Given the description of an element on the screen output the (x, y) to click on. 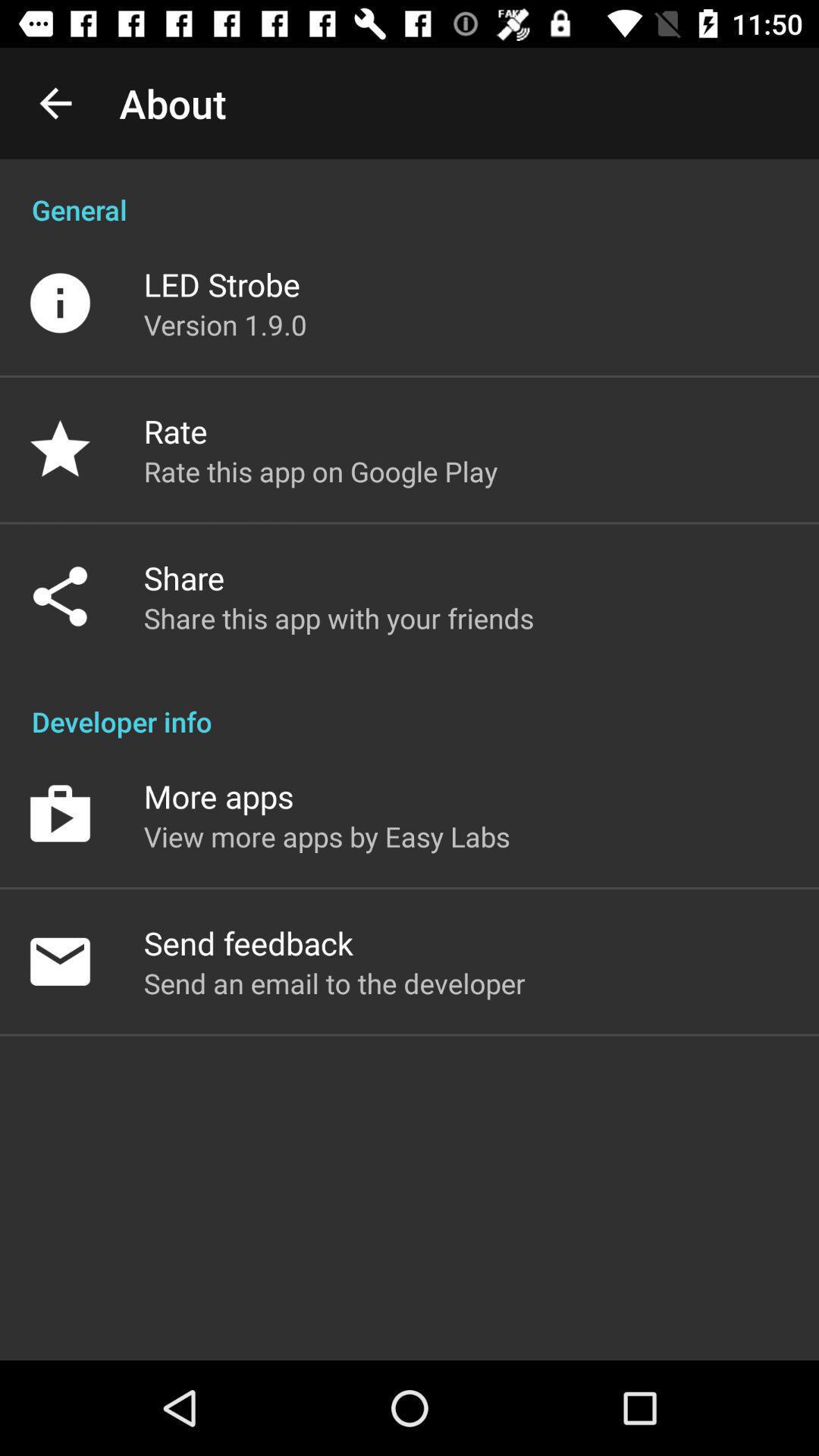
flip to the send feedback app (248, 942)
